Given the description of an element on the screen output the (x, y) to click on. 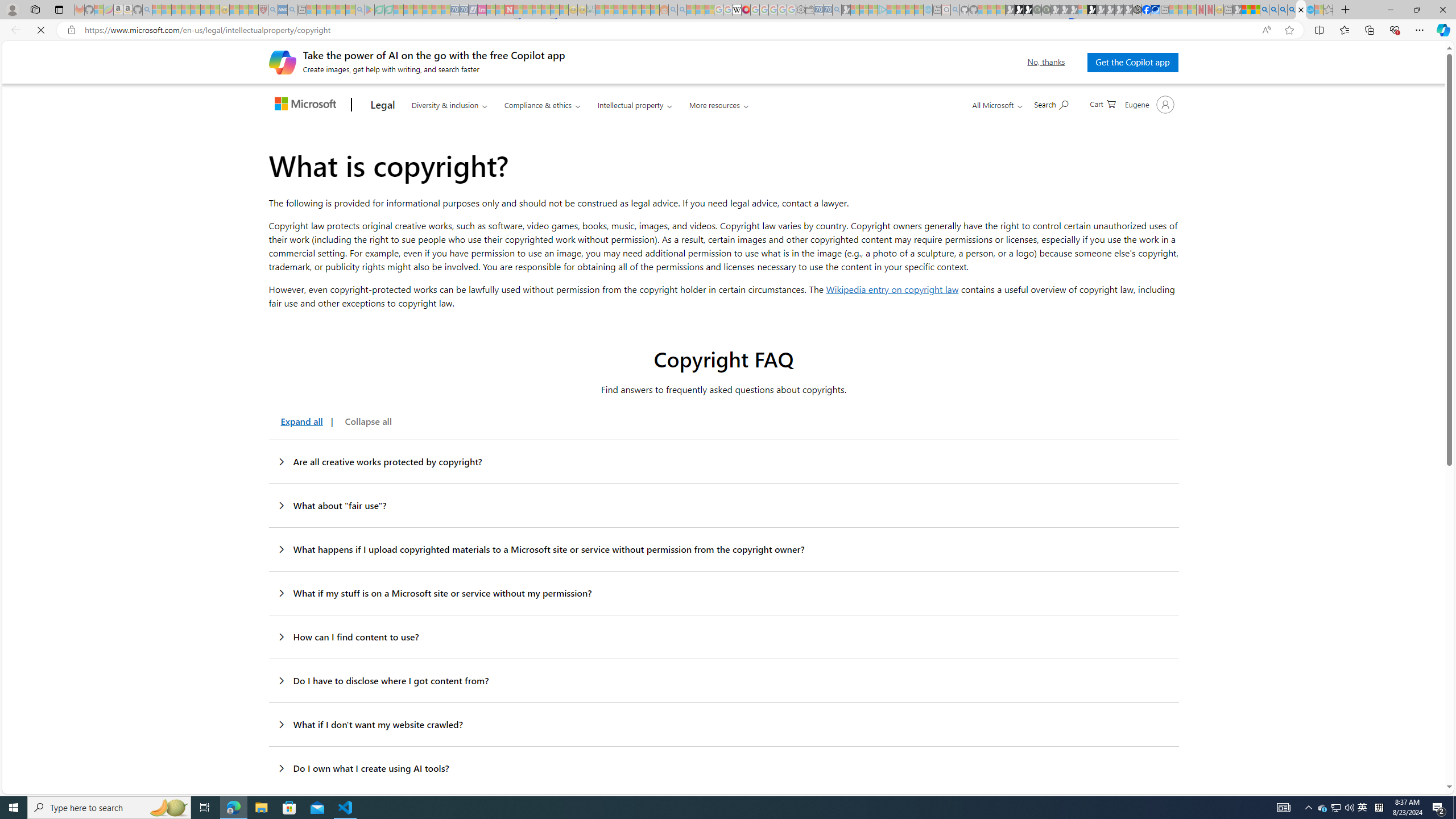
0 items in shopping cart (1102, 103)
What about "fair use"? (723, 505)
How can I find content to use? (723, 637)
Future Focus Report 2024 - Sleeping (1045, 9)
Do I own what I create using AI tools? (723, 768)
